Given the description of an element on the screen output the (x, y) to click on. 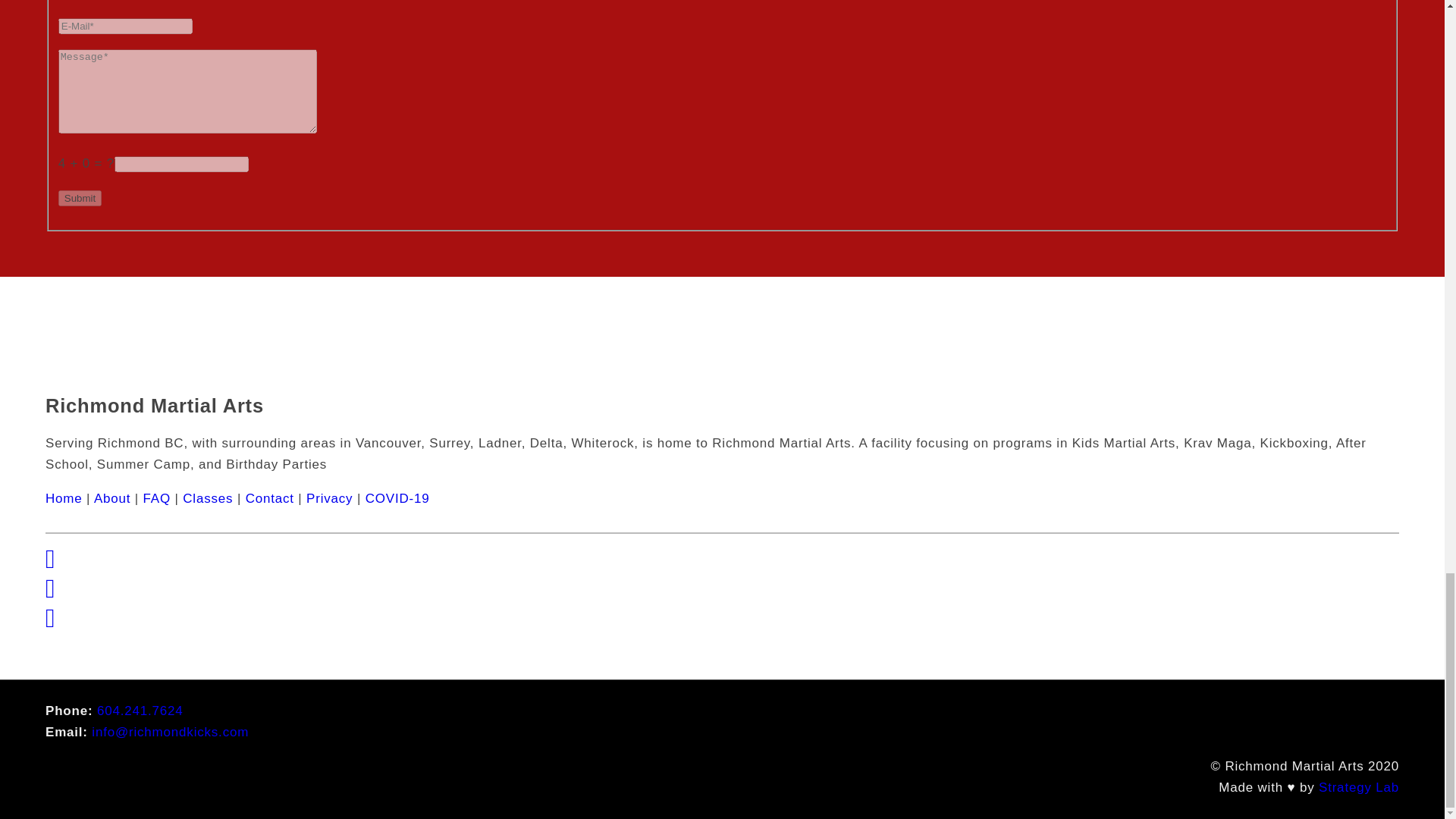
About (112, 498)
604.241.7624 (140, 710)
Strategy Lab (1359, 787)
Contact (270, 498)
Submit (79, 198)
Home (63, 498)
Submit (79, 198)
COVID-19 (397, 498)
Classes (207, 498)
Privacy (328, 498)
